Given the description of an element on the screen output the (x, y) to click on. 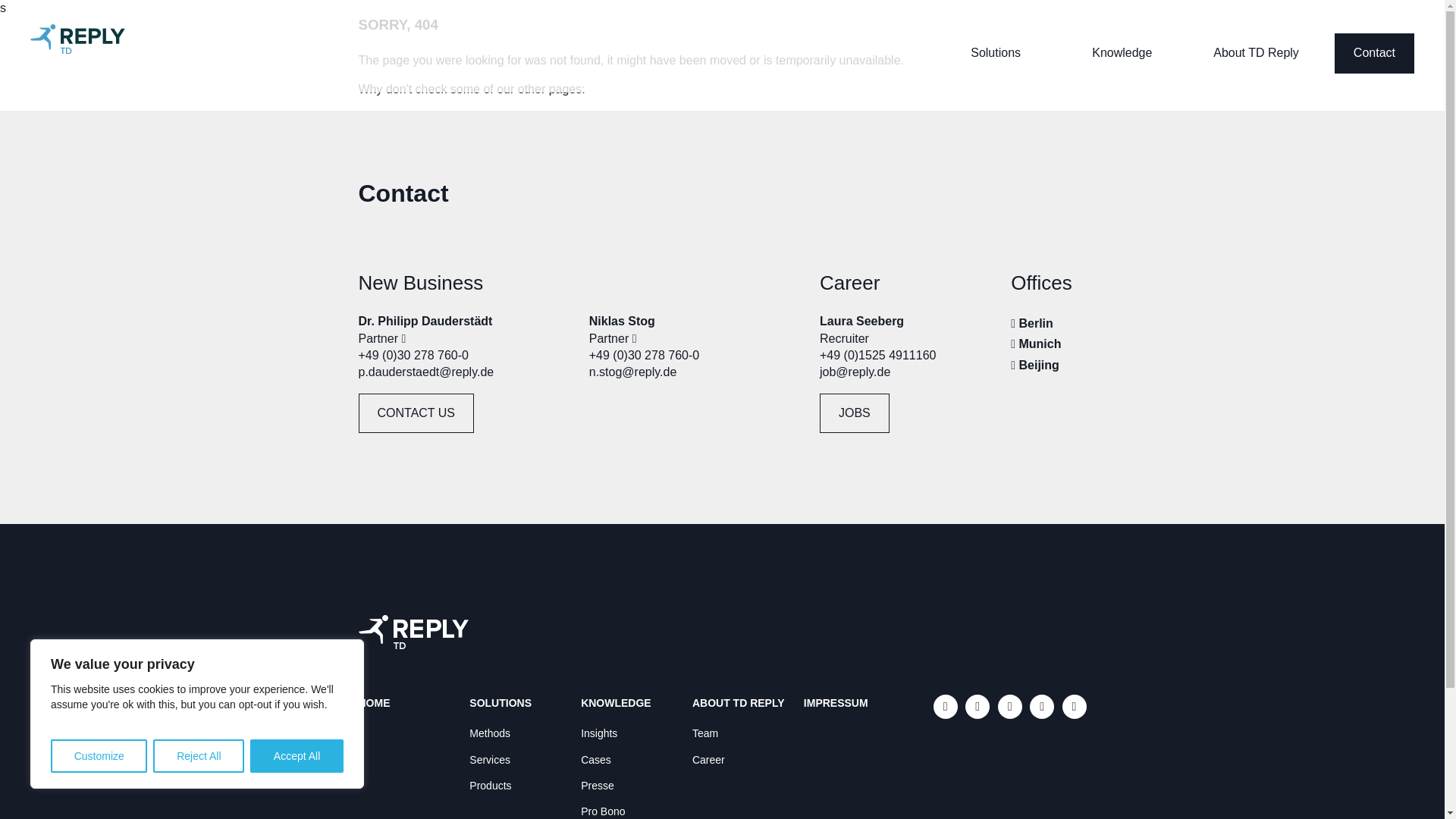
Knowledge (1121, 51)
About TD Reply (1255, 51)
Reject All (198, 756)
Accept All (296, 756)
Customize (98, 756)
TD Reply (84, 41)
Solutions (995, 51)
